Given the description of an element on the screen output the (x, y) to click on. 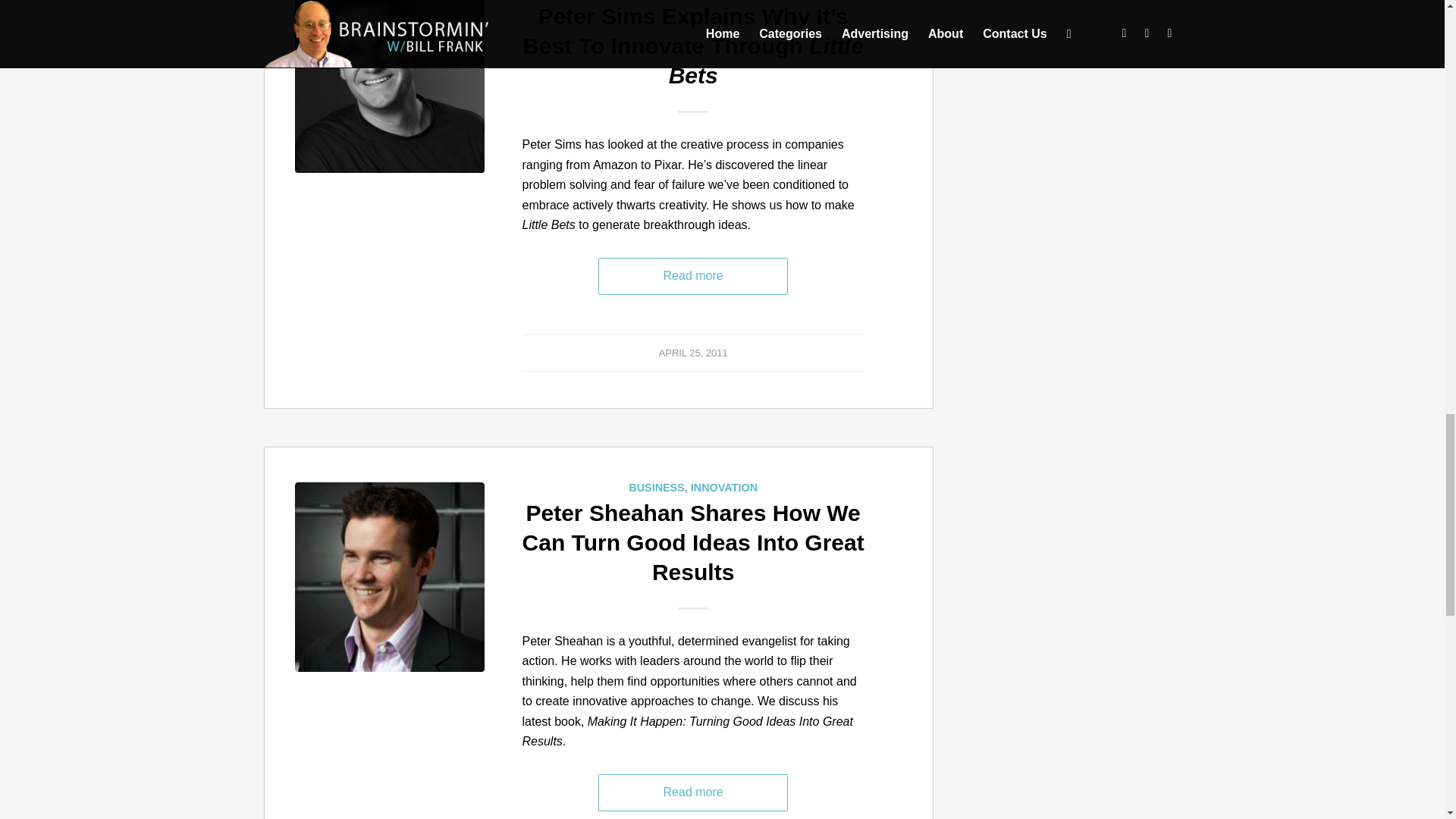
Peter Sims, author of LITTLE BETS (388, 87)
Peter Sheahan, author of MAKING IT HAPPEN (388, 576)
Read more (692, 275)
